Given the description of an element on the screen output the (x, y) to click on. 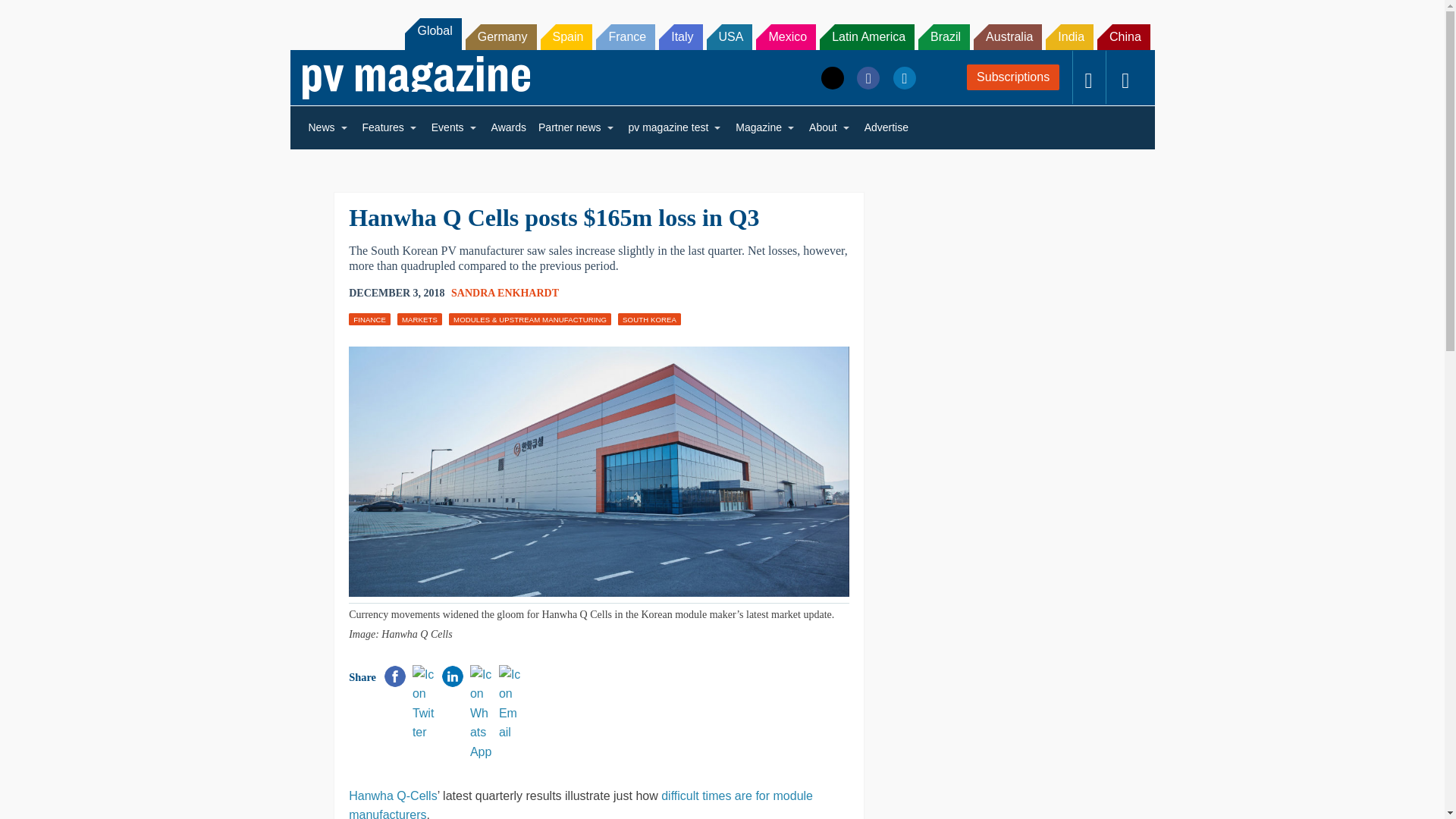
France (625, 36)
Australia (1008, 36)
Search (32, 15)
Mexico (785, 36)
India (1069, 36)
Germany (501, 36)
pv magazine - Photovoltaics Markets and Technology (415, 77)
Global (432, 33)
pv magazine - Photovoltaics Markets and Technology (415, 77)
Subscriptions (1012, 77)
China (1123, 36)
USA (729, 36)
Posts by Sandra Enkhardt (505, 292)
Latin America (866, 36)
Brazil (943, 36)
